Given the description of an element on the screen output the (x, y) to click on. 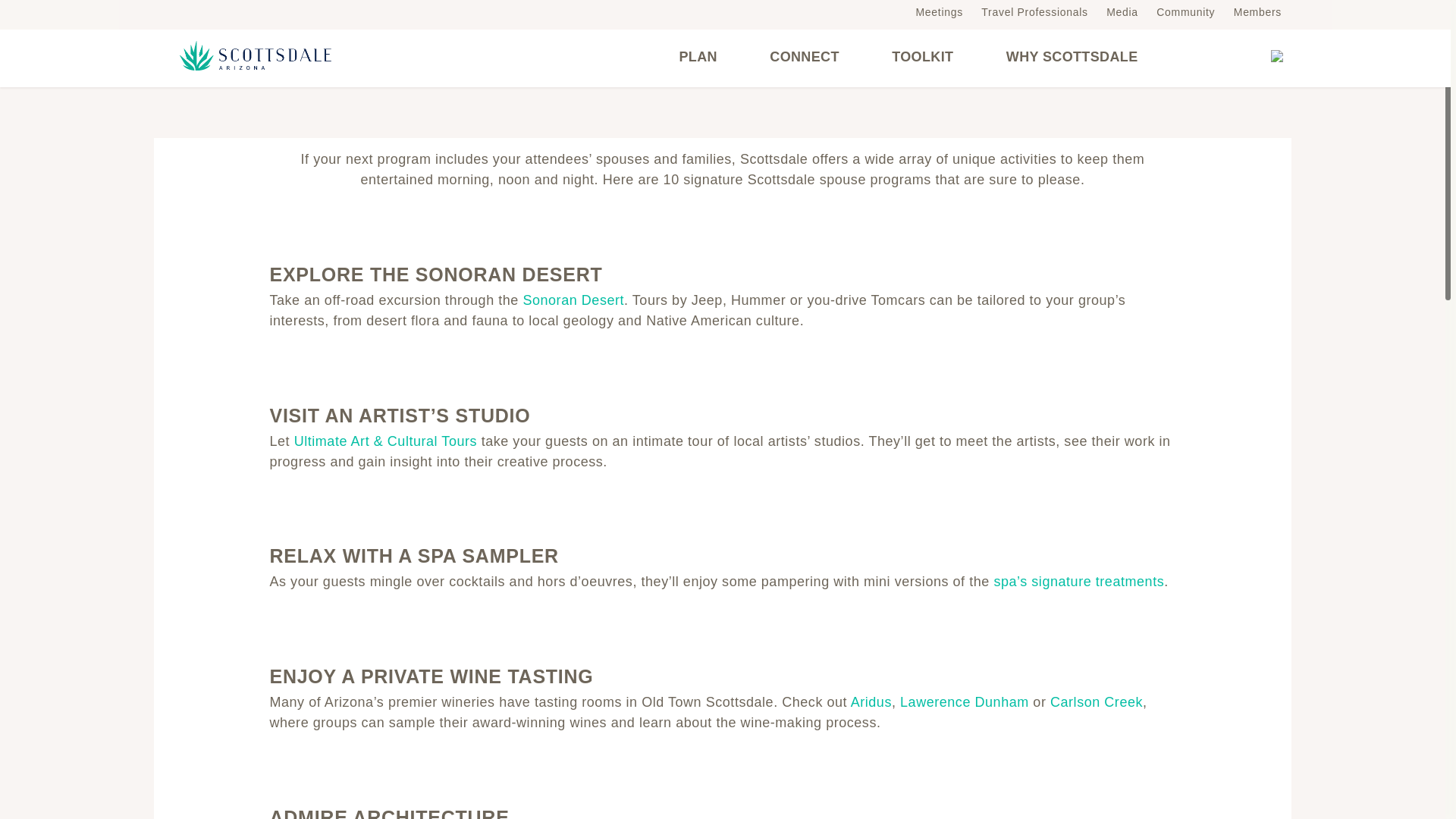
Media (1122, 11)
Meetings (938, 11)
Meetings (938, 11)
Travel Professionals (1034, 11)
